Given the description of an element on the screen output the (x, y) to click on. 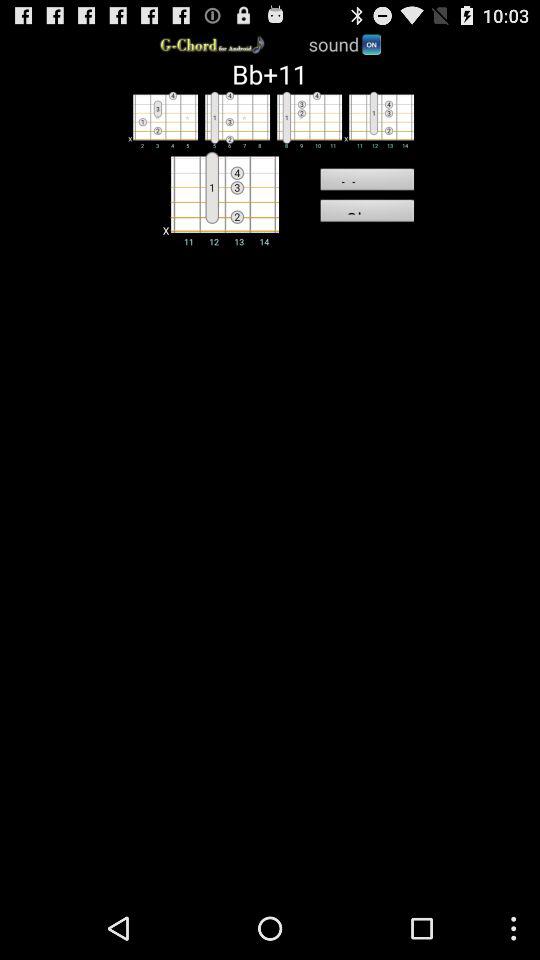
choose cord (218, 197)
